Given the description of an element on the screen output the (x, y) to click on. 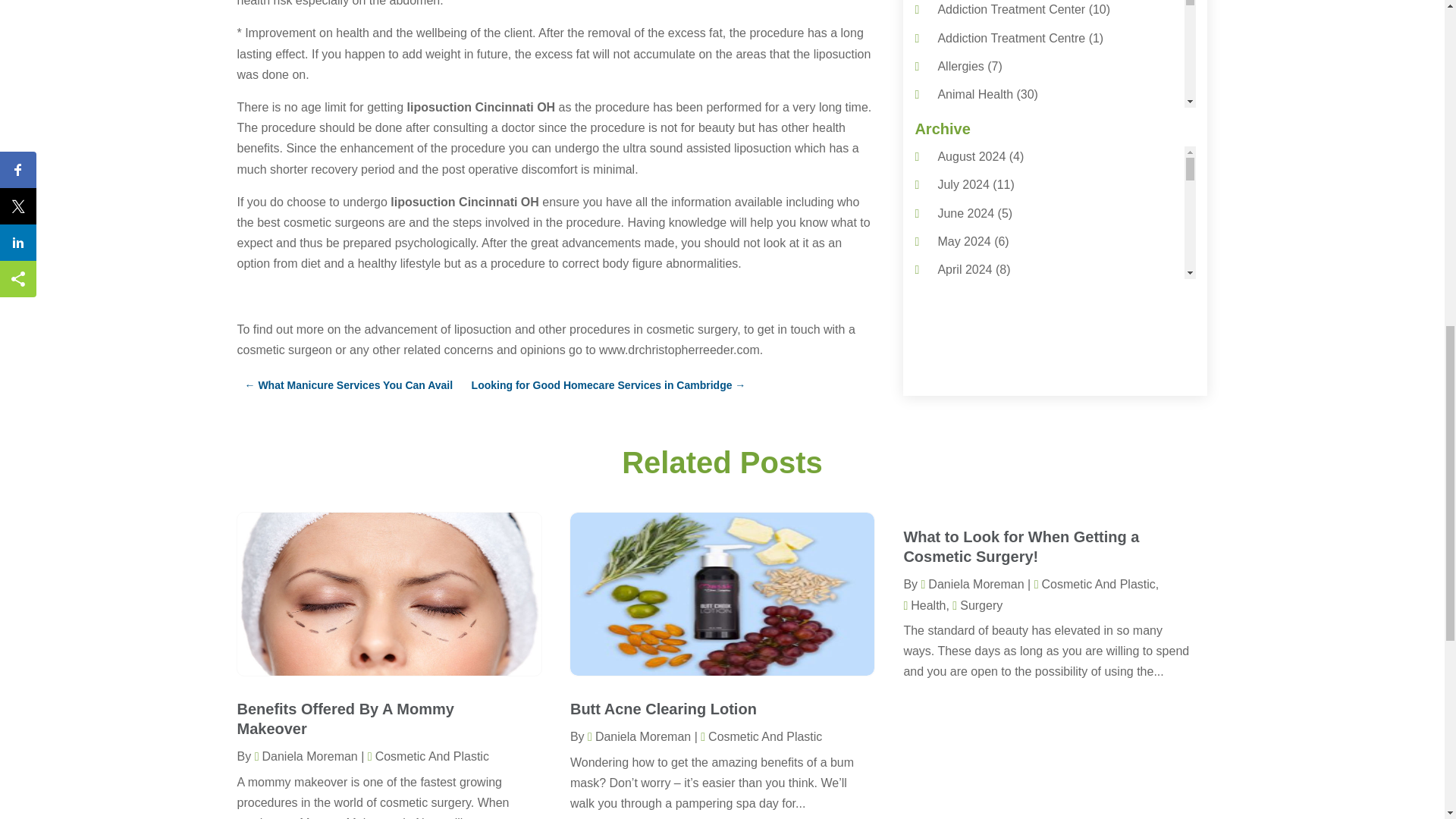
Biotechnology Company (1002, 291)
Addiction Treatment Center (1010, 9)
Cancer Treatment Center (1005, 376)
Addiction Treatment Centre (1010, 38)
Audiologist (966, 206)
Baby Food (966, 235)
Posts by Daniela Moreman (971, 584)
Posts by Daniela Moreman (639, 736)
Animal Health (975, 93)
Animal Hospitals (982, 122)
